Given the description of an element on the screen output the (x, y) to click on. 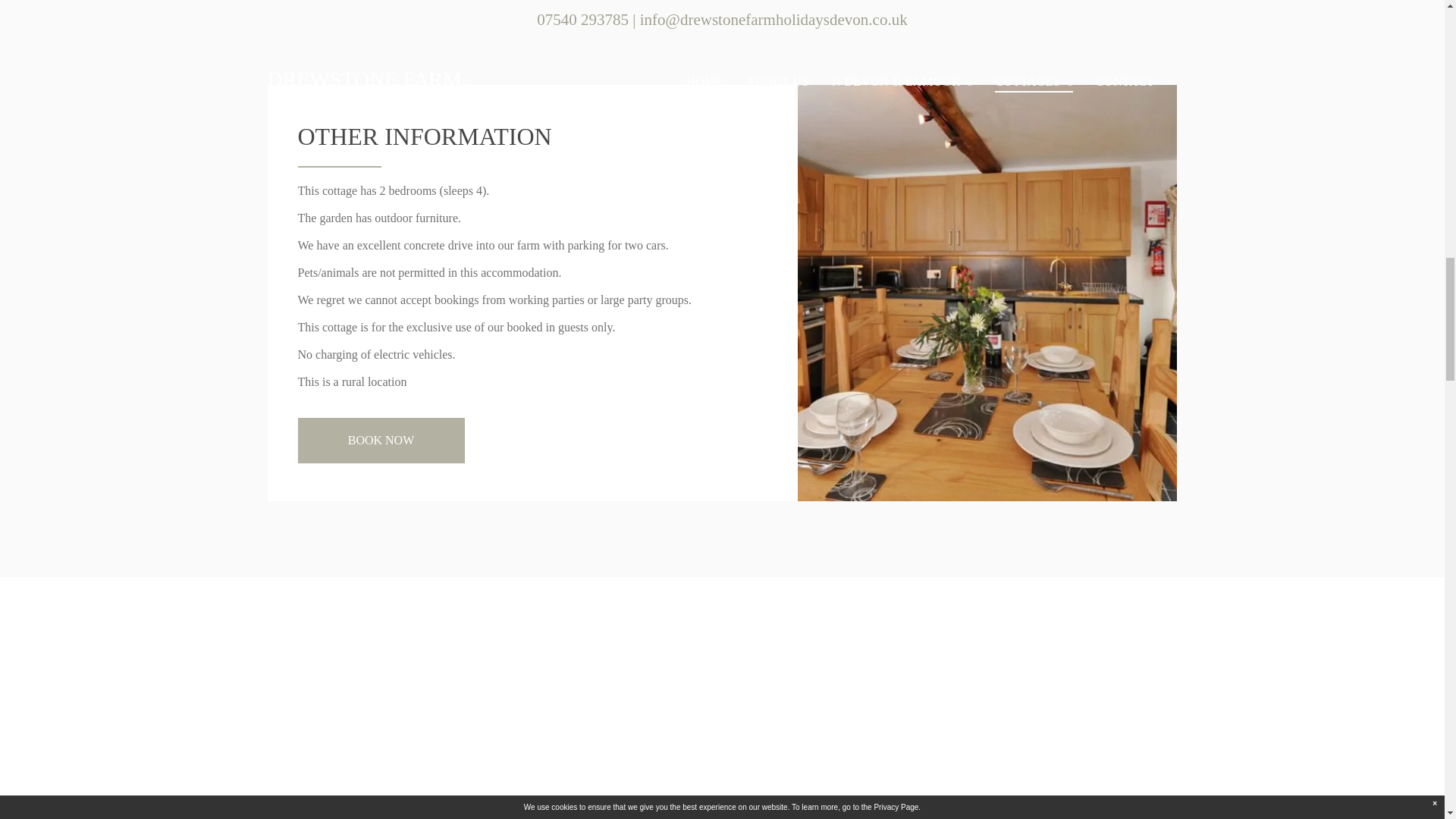
BOOK NOW (380, 440)
